Given the description of an element on the screen output the (x, y) to click on. 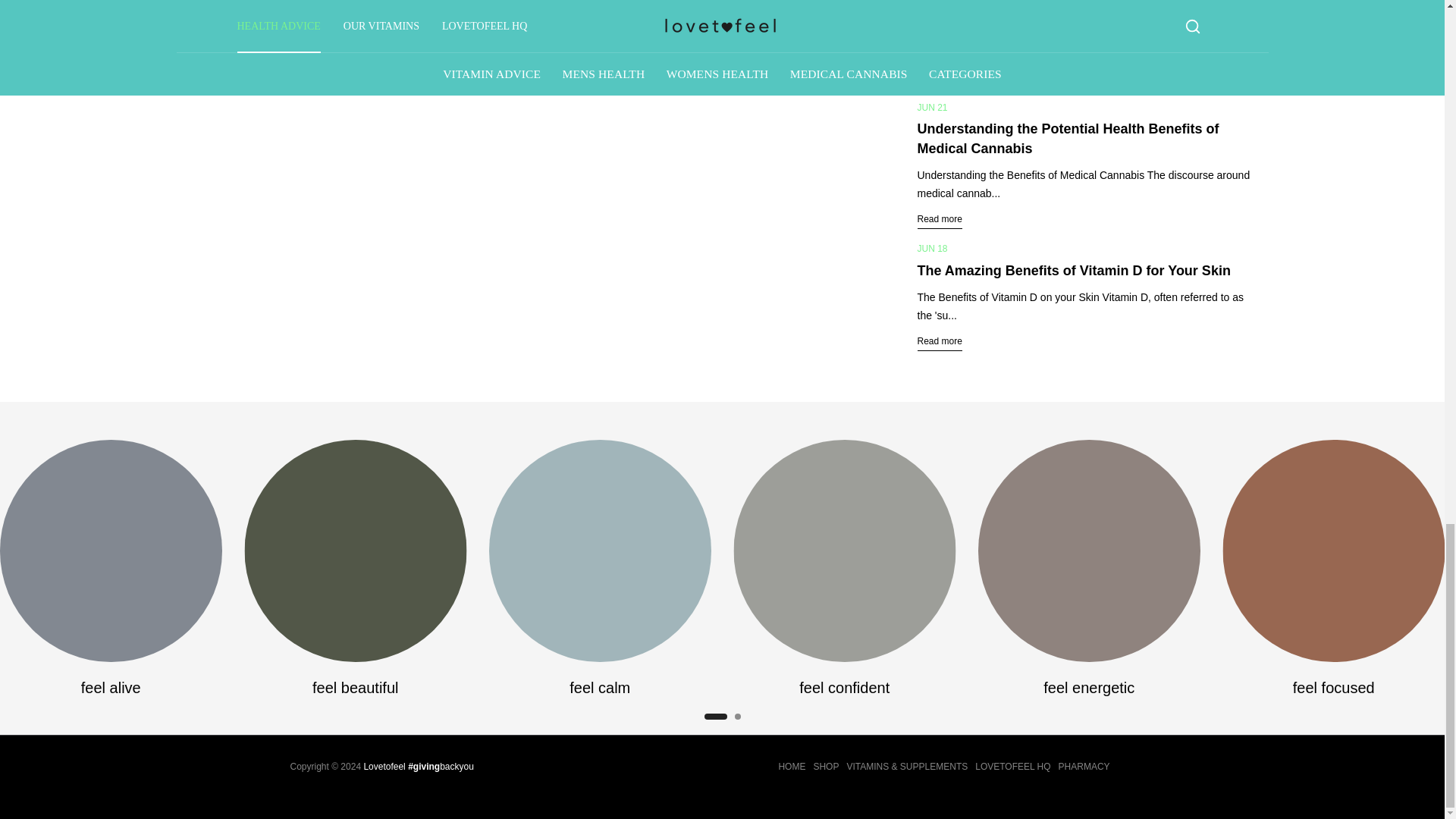
Read more (215, 39)
feel confident (844, 687)
Read more (939, 76)
feel alive (111, 687)
Read more (939, 341)
The Amazing Benefits of Vitamin D for Your Skin (1073, 270)
feel beautiful (354, 687)
Read more (939, 219)
feel calm (600, 687)
